Given the description of an element on the screen output the (x, y) to click on. 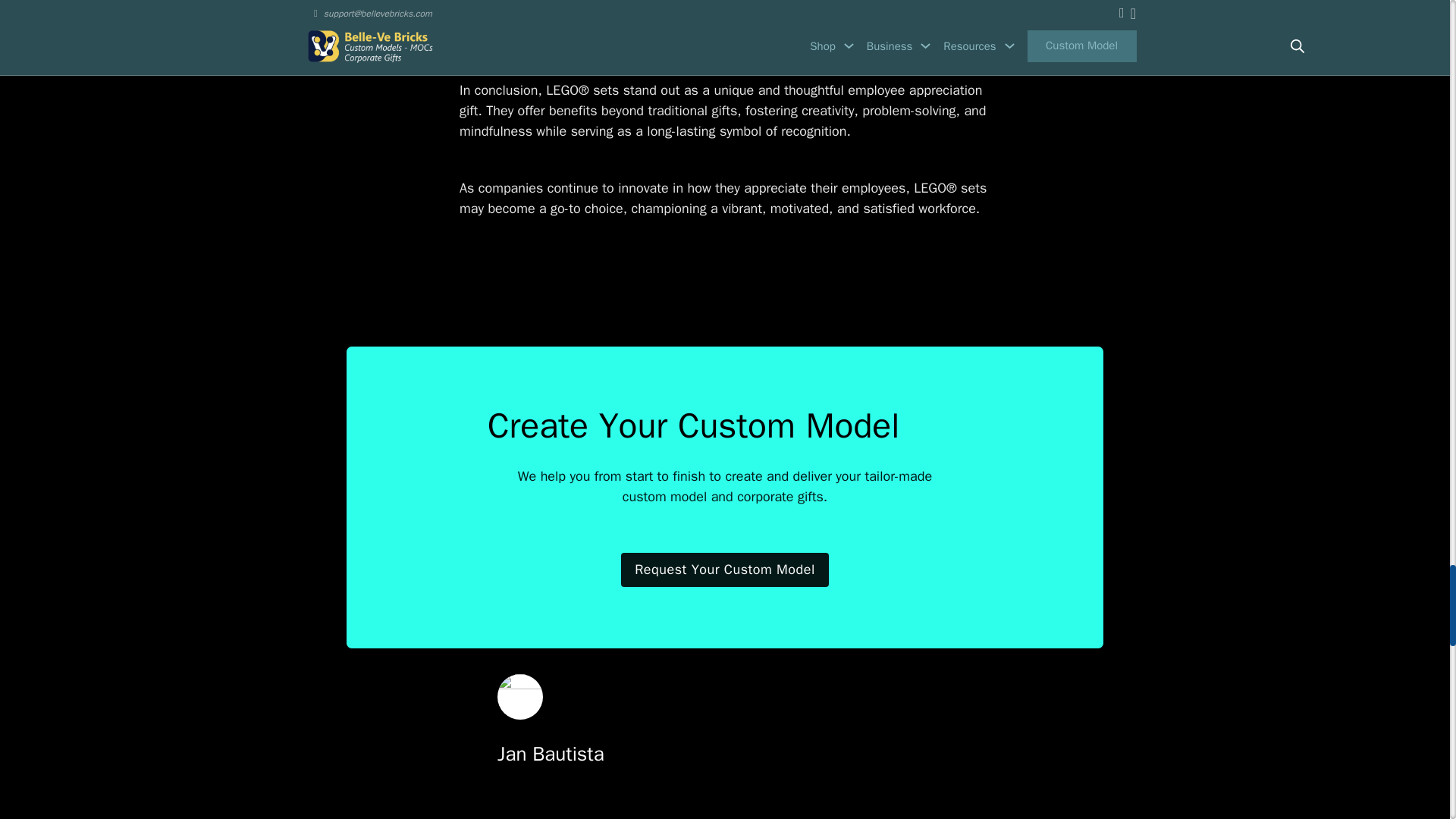
Request Your Custom Model (724, 569)
